Given the description of an element on the screen output the (x, y) to click on. 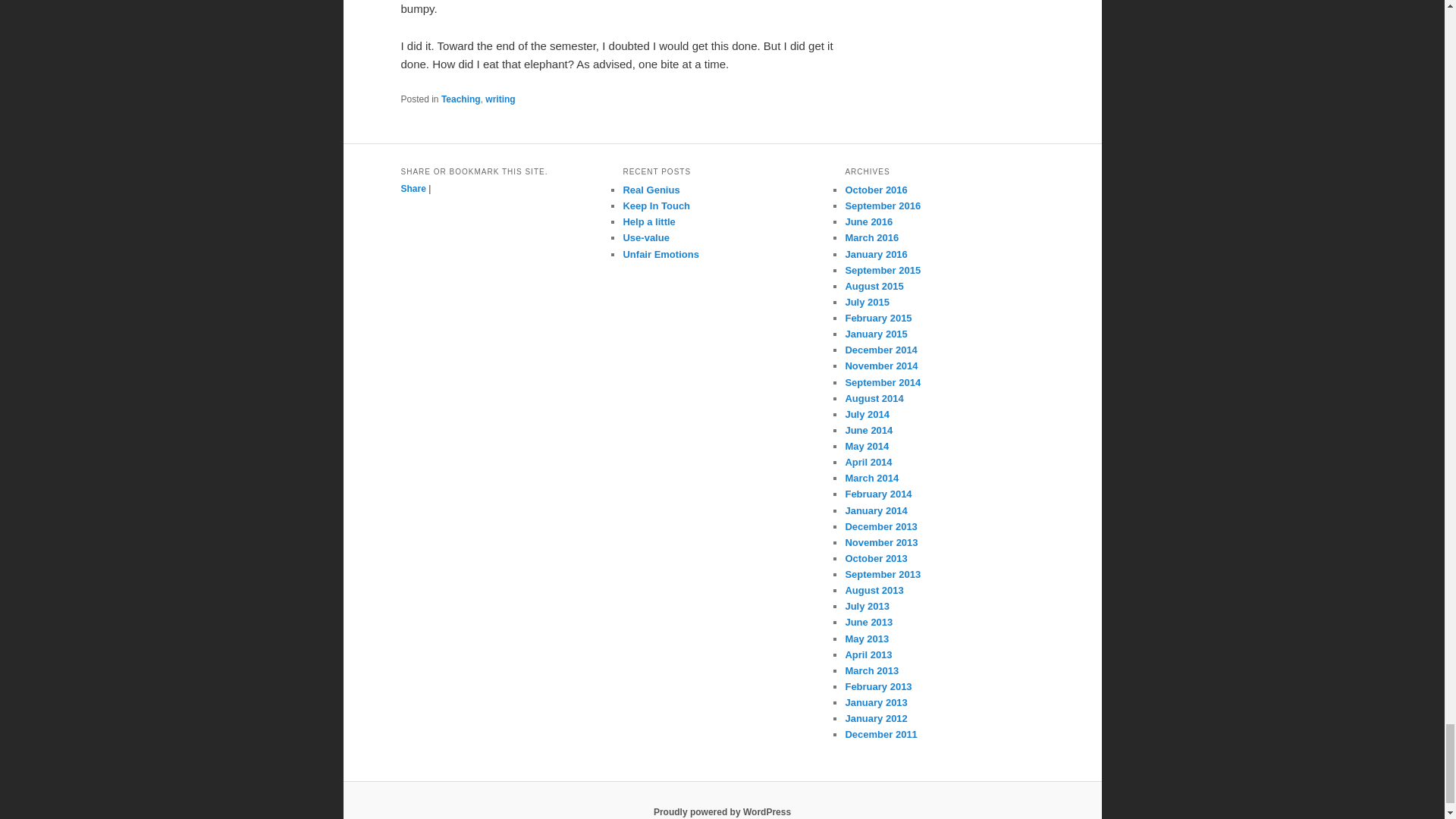
Semantic Personal Publishing Platform (721, 811)
